Given the description of an element on the screen output the (x, y) to click on. 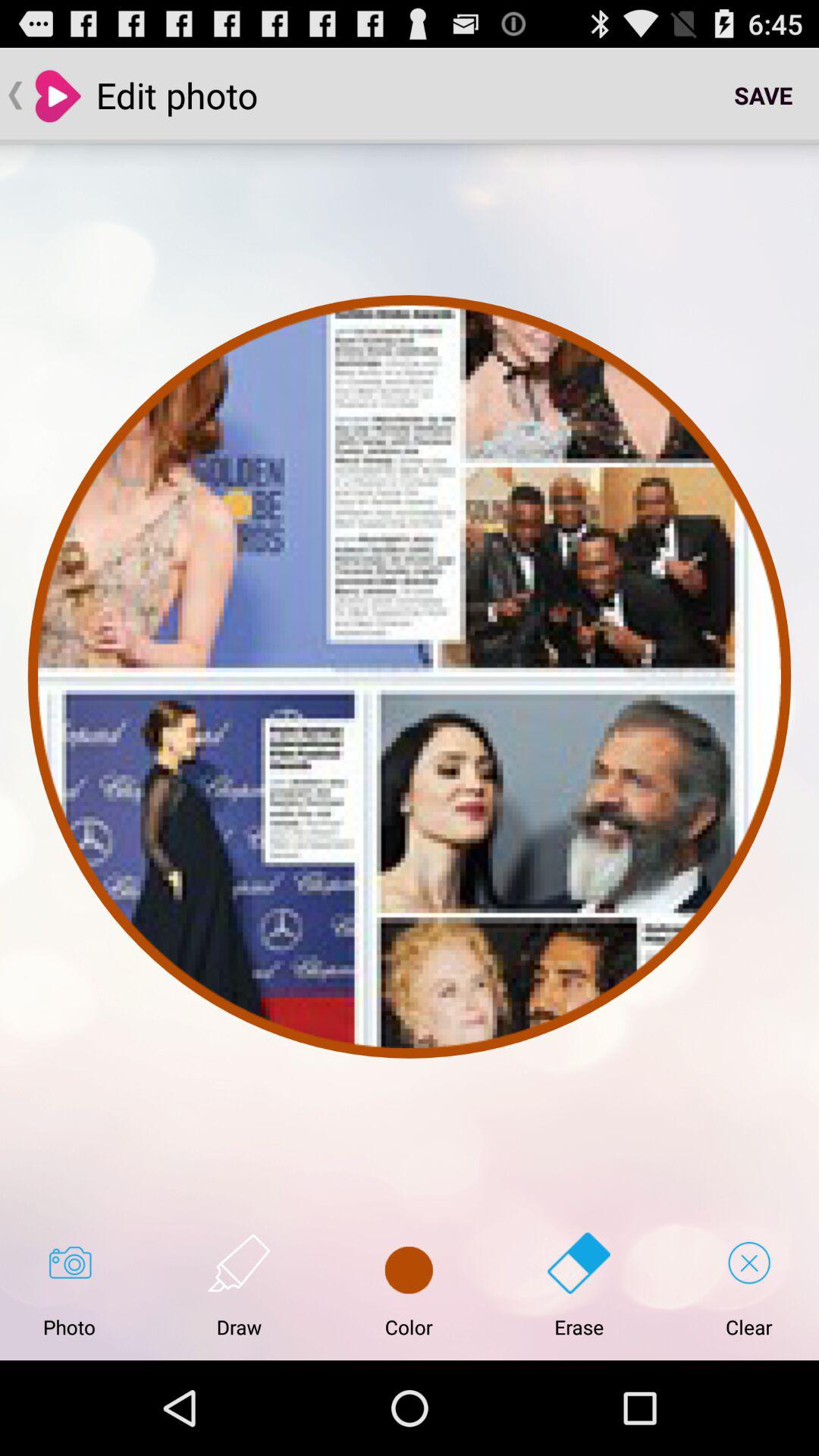
choose button next to the clear icon (579, 1285)
